Given the description of an element on the screen output the (x, y) to click on. 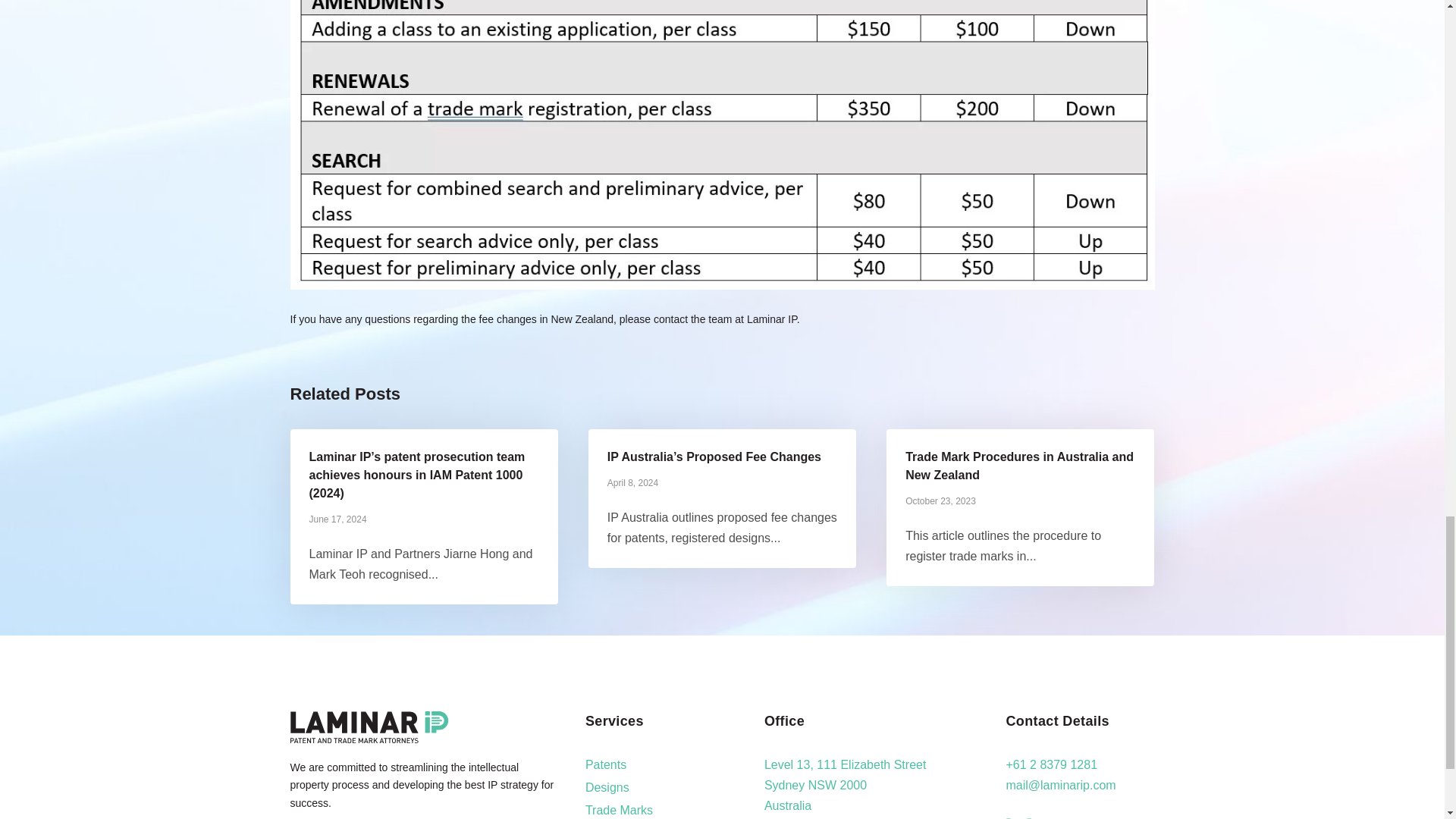
Trade Mark Procedures in Australia and New Zealand  (1019, 465)
Designs (606, 787)
June 17, 2024 (337, 519)
April 8, 2024 (632, 482)
Patents (605, 764)
October 23, 2023 (940, 501)
Trade Marks (618, 809)
